Given the description of an element on the screen output the (x, y) to click on. 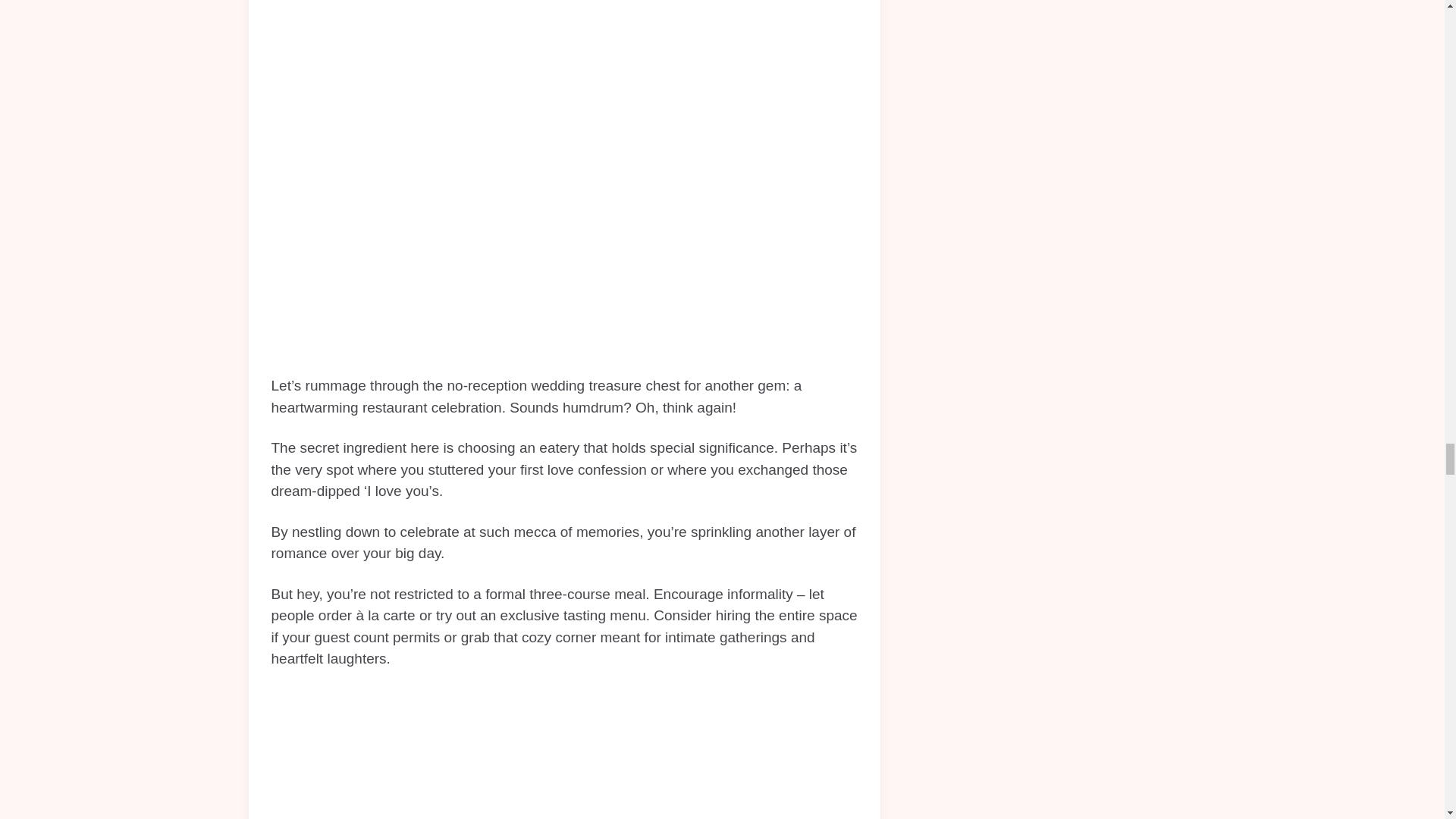
Romantic Restaurant Wedding in Brooklyn (564, 754)
